Given the description of an element on the screen output the (x, y) to click on. 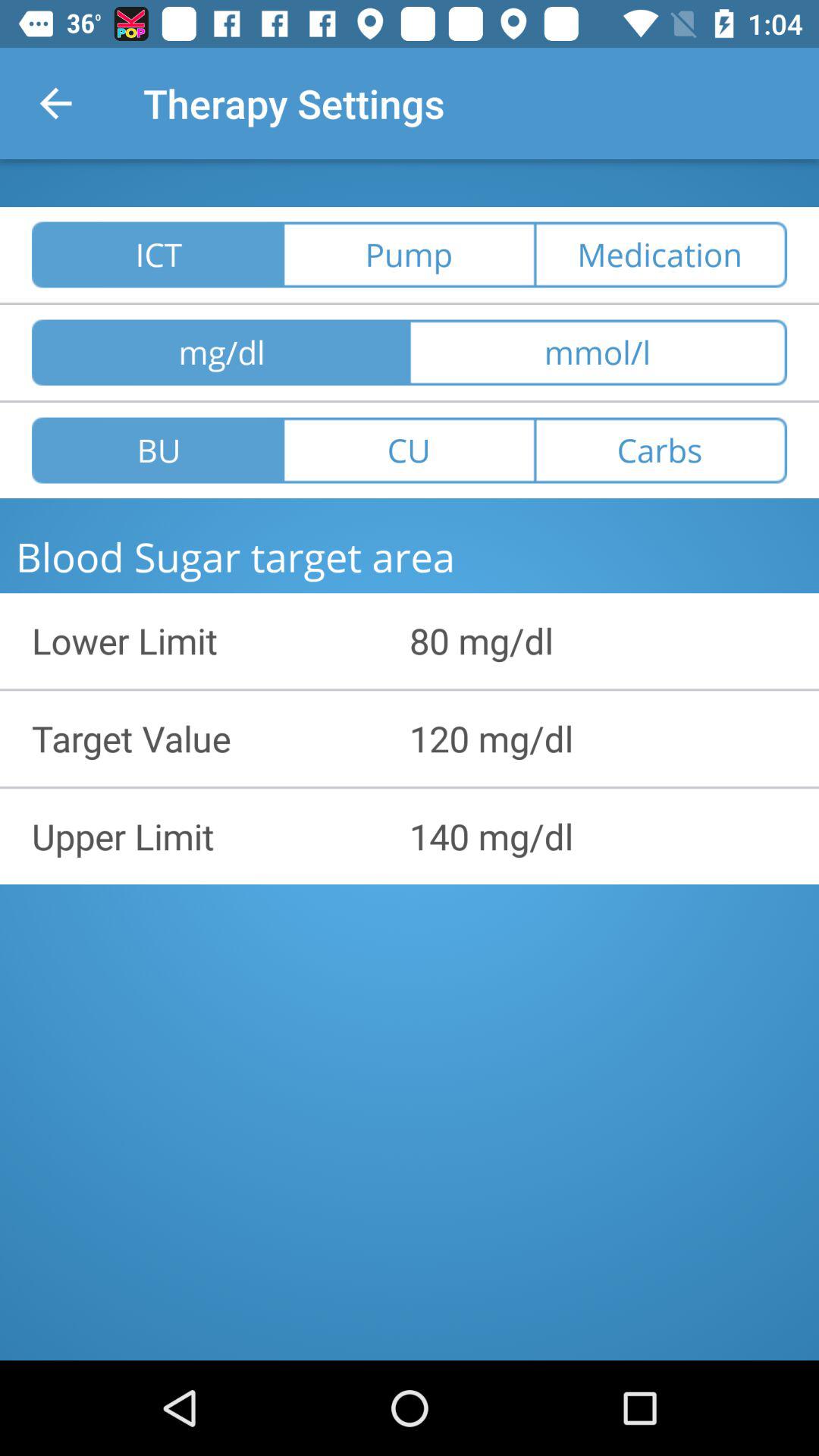
click bu (157, 450)
